Given the description of an element on the screen output the (x, y) to click on. 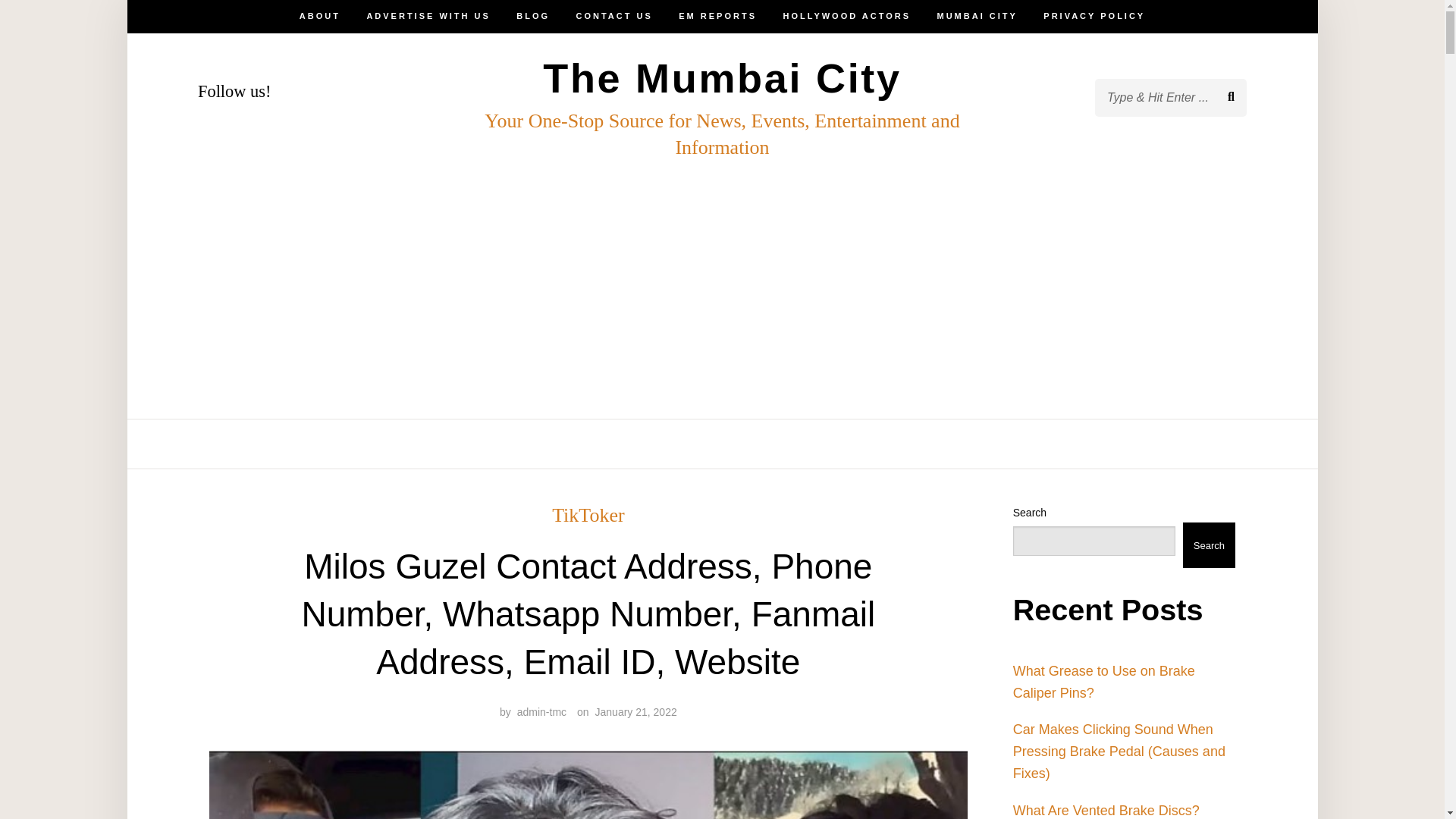
PRIVACY POLICY (1093, 16)
PRIVACY POLICY (1093, 444)
EM REPORTS (717, 444)
Submit (64, 23)
HOLLYWOOD ACTORS (847, 16)
CONTACT US (614, 444)
TikToker (587, 515)
MUMBAI CITY (977, 16)
ABOUT (319, 444)
